Given the description of an element on the screen output the (x, y) to click on. 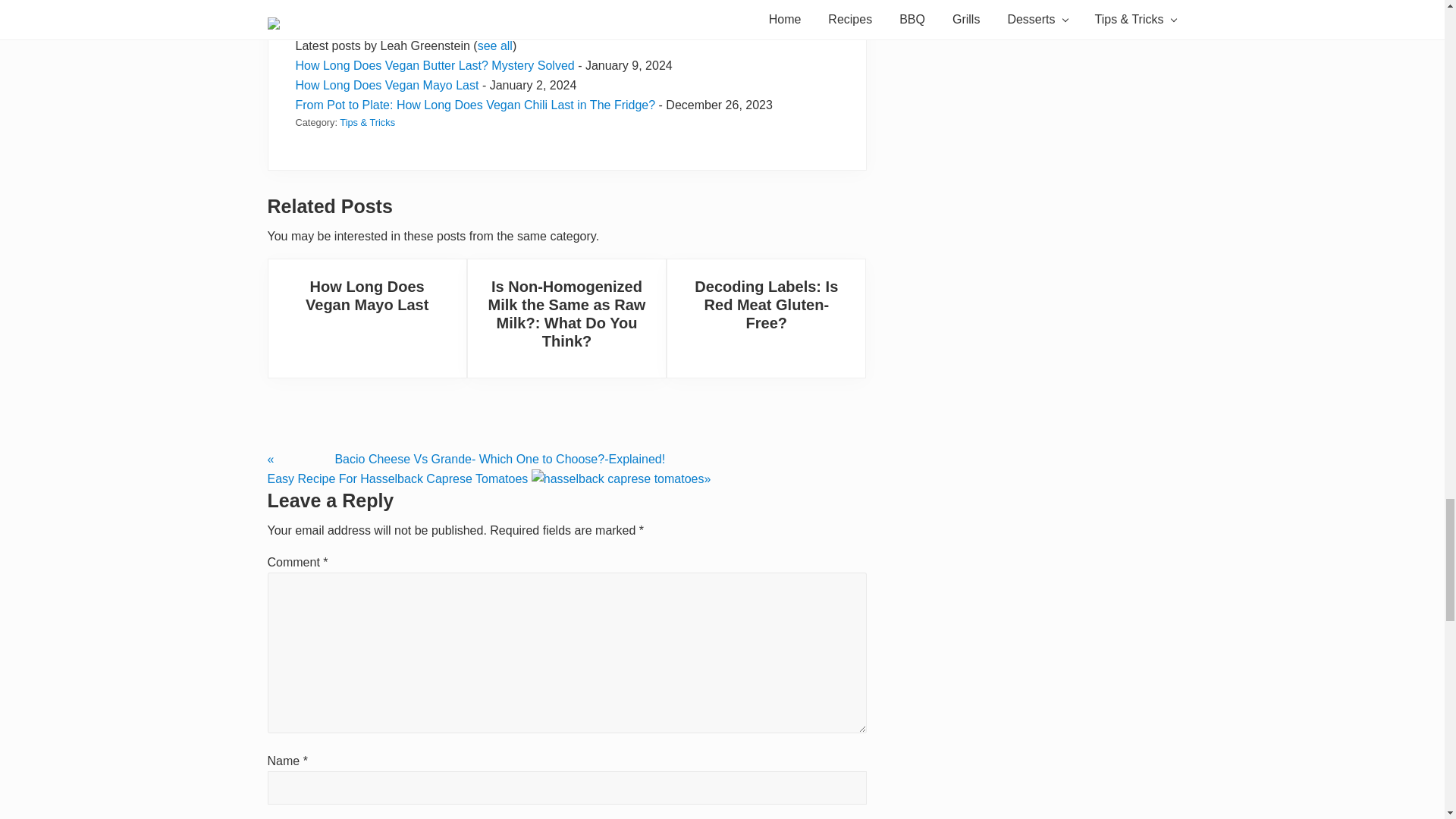
How Long Does Vegan Mayo Last (366, 295)
Decoding Labels: Is Red Meat Gluten-Free? (766, 304)
Leah Greenstein (389, 25)
